Given the description of an element on the screen output the (x, y) to click on. 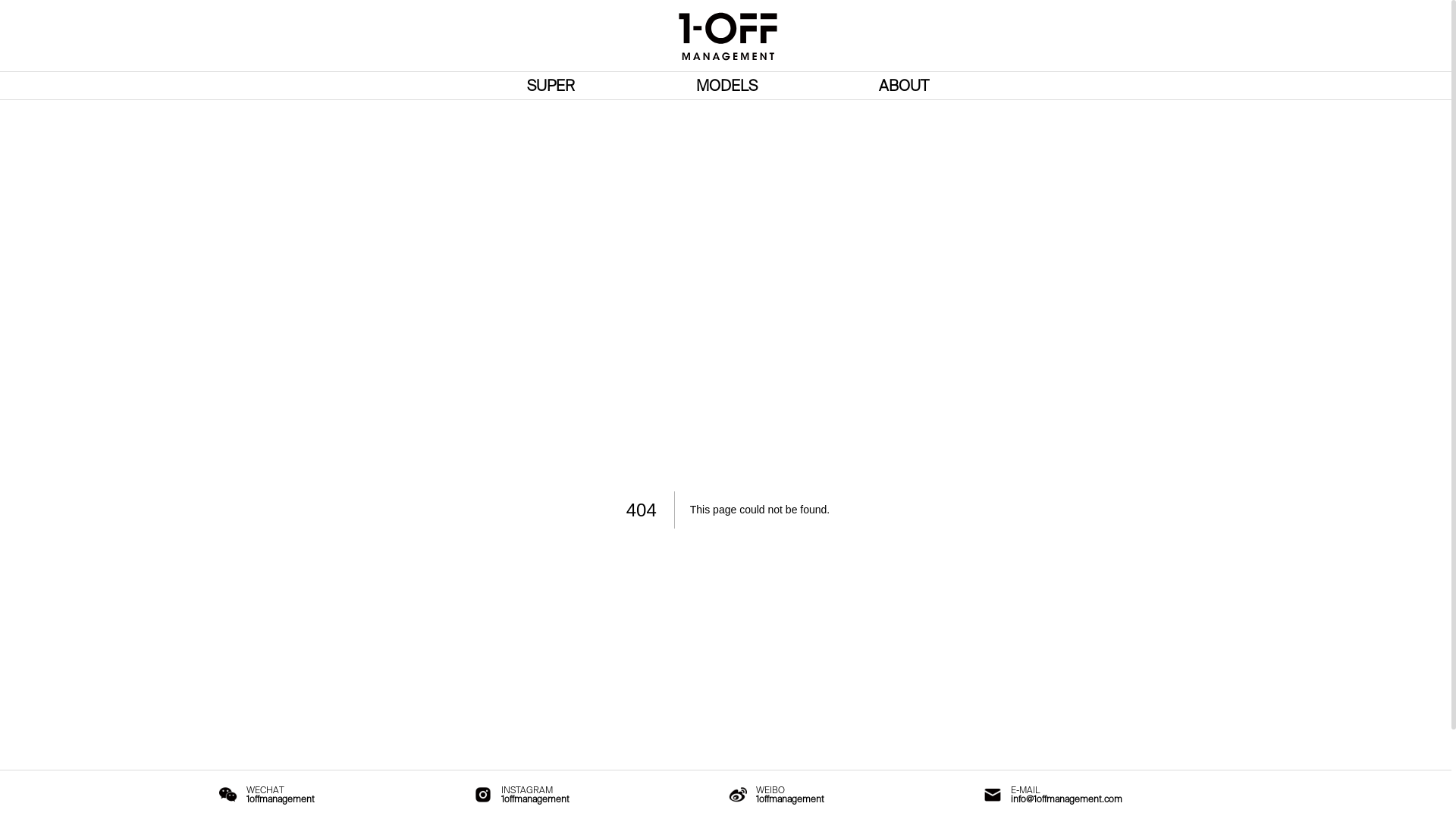
SUPER Element type: text (550, 85)
INSTAGRAM
1offmanagement Element type: text (597, 794)
WEIBO
1offmanagement Element type: text (852, 794)
ABOUT Element type: text (903, 85)
E-MAIL
info@1offmanagement.com Element type: text (1107, 794)
MODELS Element type: text (726, 85)
